Given the description of an element on the screen output the (x, y) to click on. 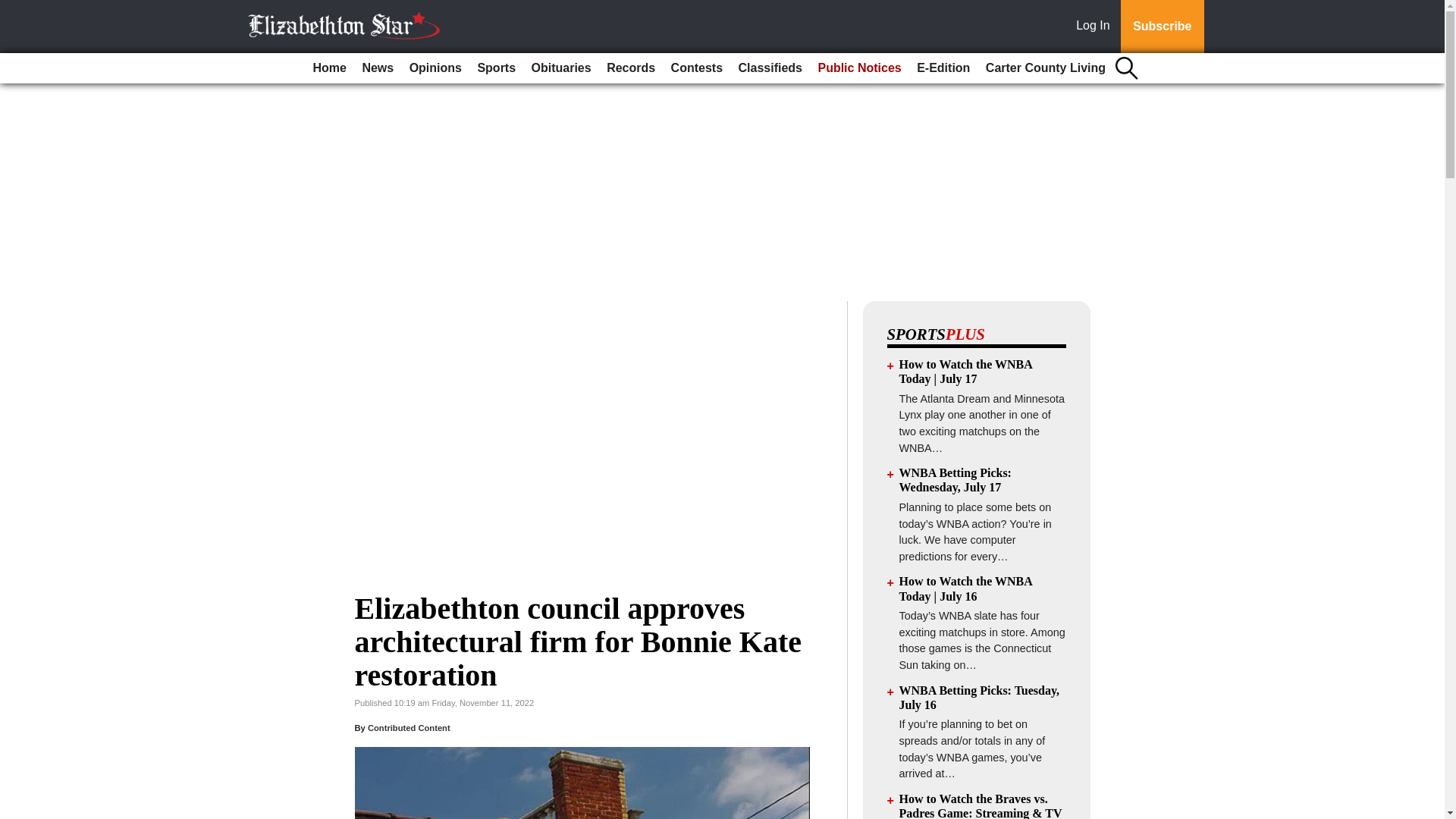
Home (328, 68)
Carter County Living (1045, 68)
Contests (697, 68)
Log In (1095, 26)
Sports (495, 68)
Records (630, 68)
WNBA Betting Picks: Tuesday, July 16 (979, 697)
Obituaries (560, 68)
Subscribe (1162, 26)
E-Edition (943, 68)
WNBA Betting Picks: Wednesday, July 17 (955, 479)
Public Notices (858, 68)
Contributed Content (408, 727)
News (376, 68)
Classifieds (770, 68)
